Given the description of an element on the screen output the (x, y) to click on. 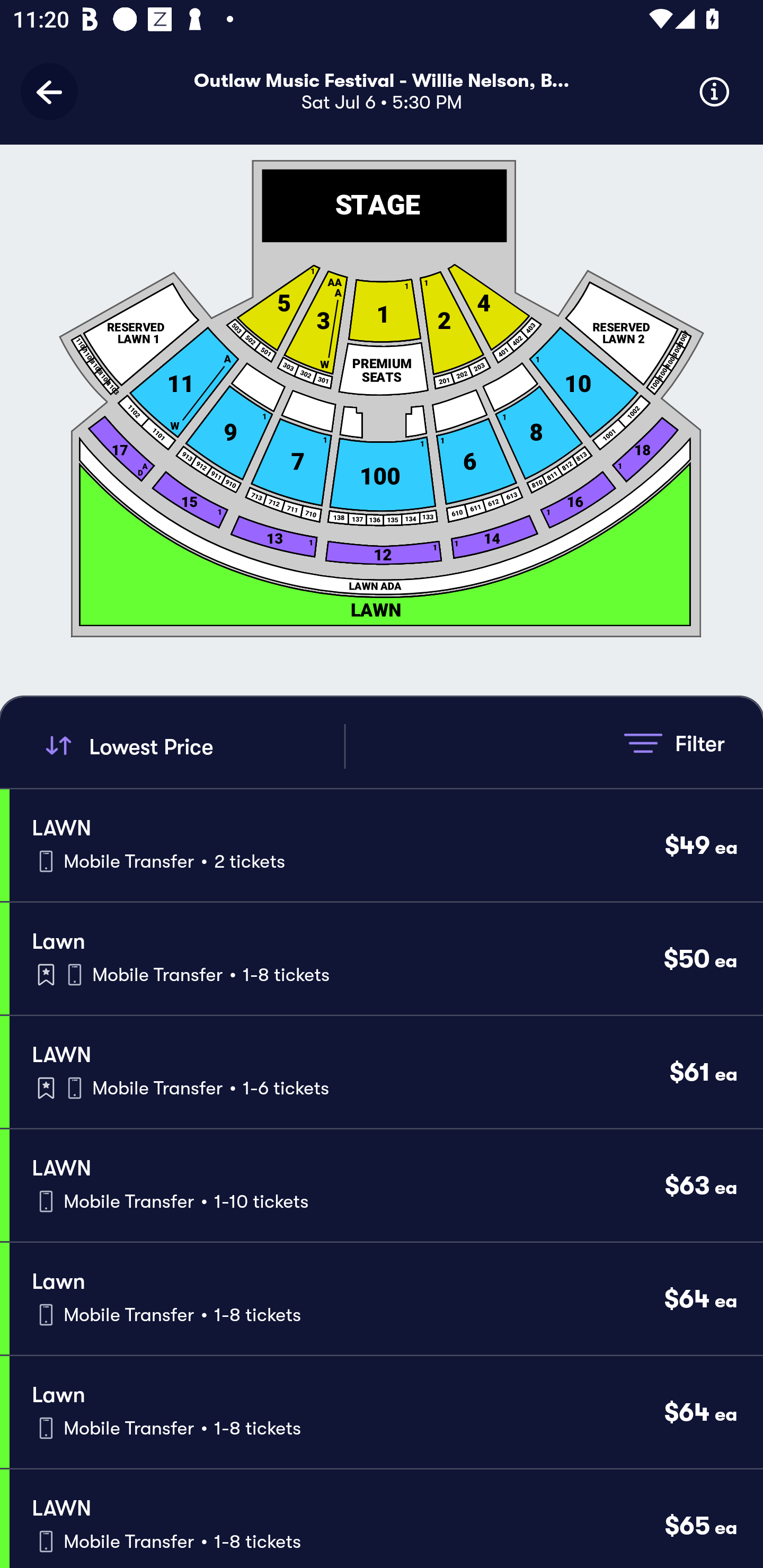
Lowest Price (191, 746)
Filter (674, 743)
LAWN Mobile Transfer • 2 tickets $49 ea (386, 844)
Lawn Mobile Transfer • 1-8 tickets $50 ea (386, 958)
LAWN Mobile Transfer • 1-6 tickets $61 ea (386, 1071)
LAWN Mobile Transfer • 1-10 tickets $63 ea (386, 1184)
Lawn Mobile Transfer • 1-8 tickets $64 ea (386, 1298)
Lawn Mobile Transfer • 1-8 tickets $64 ea (386, 1411)
LAWN Mobile Transfer • 1-8 tickets $65 ea (386, 1518)
